Given the description of an element on the screen output the (x, y) to click on. 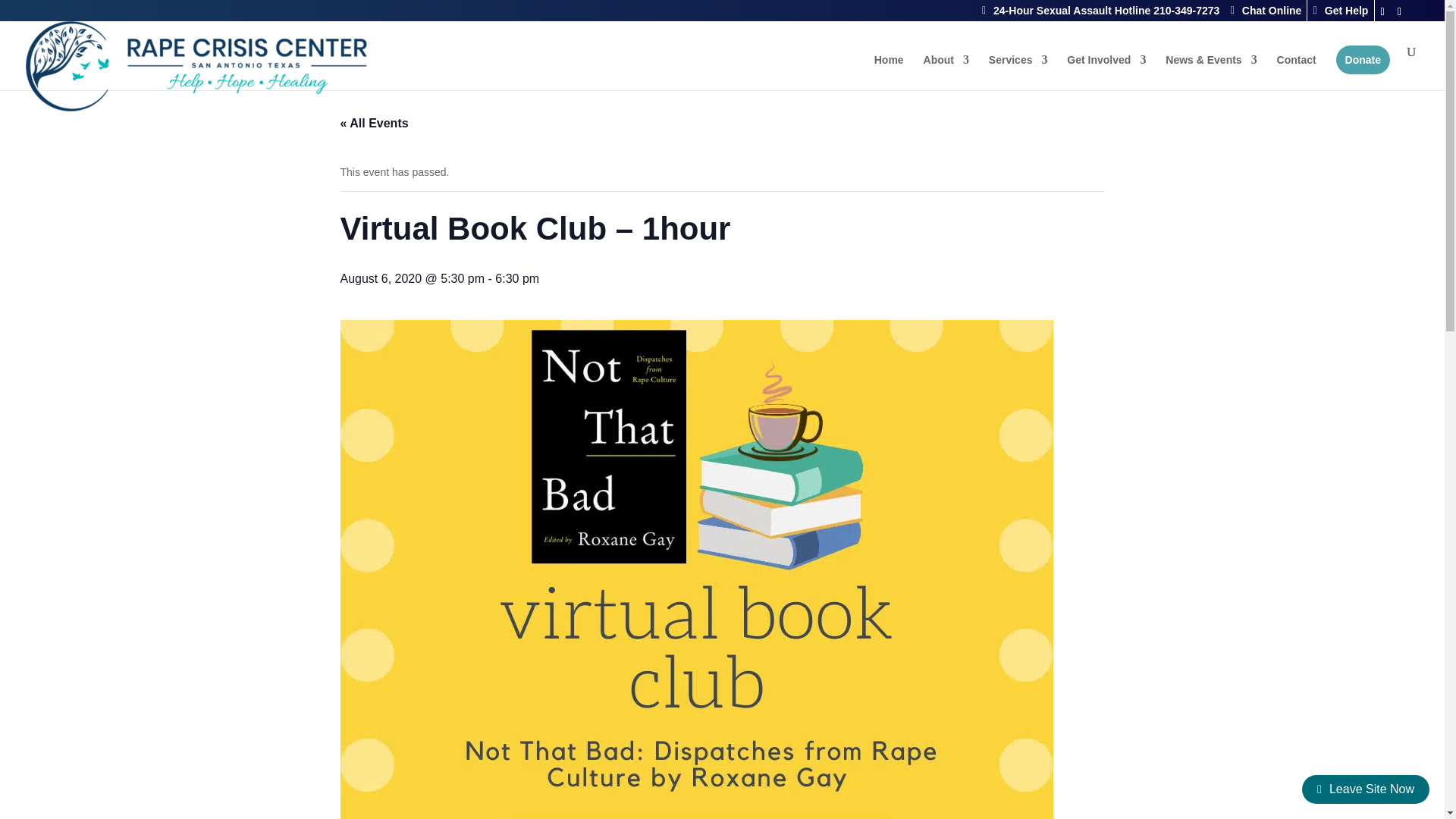
About (946, 72)
Home (889, 72)
Get Involved (1106, 72)
Chat Online (1265, 10)
24-Hour Sexual Assault Hotline 210-349-7273 (1100, 10)
Get Help (1340, 10)
Contact (1296, 72)
Donate (1363, 59)
Services (1018, 72)
Leave Site Now (1365, 788)
